Given the description of an element on the screen output the (x, y) to click on. 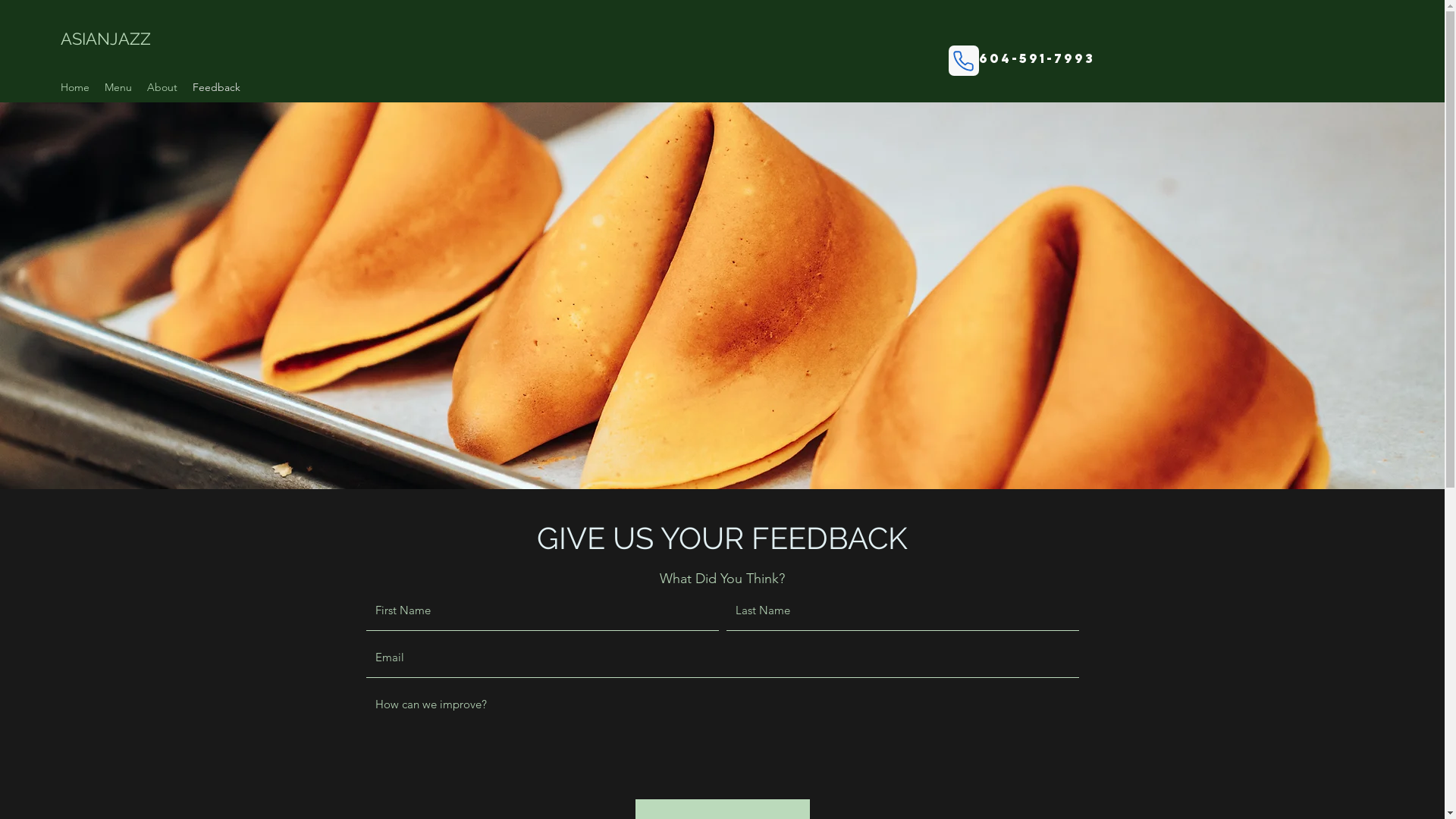
Home Element type: text (75, 86)
About Element type: text (162, 86)
Menu Element type: text (118, 86)
Feedback Element type: text (216, 86)
